Given the description of an element on the screen output the (x, y) to click on. 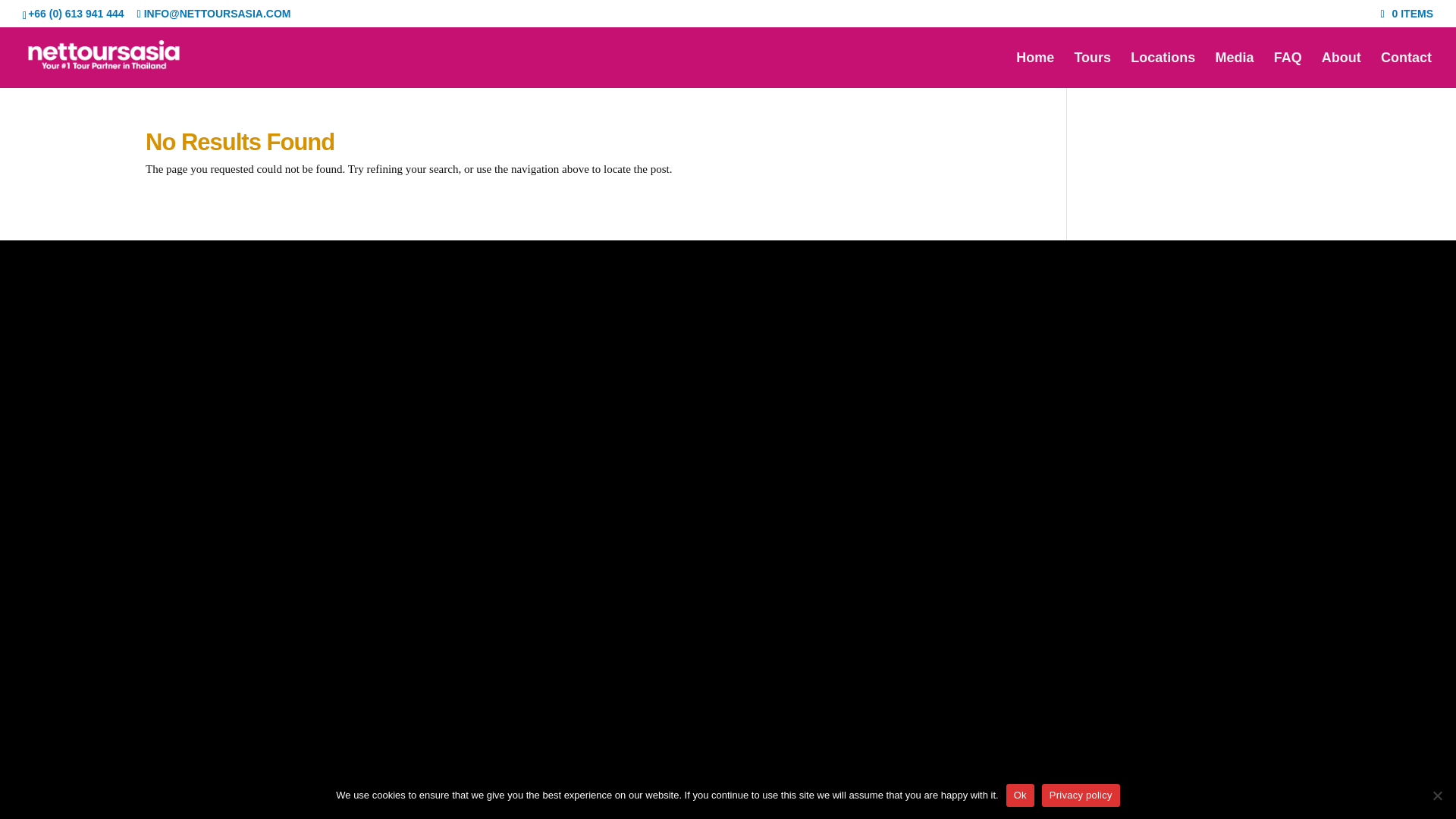
0 ITEMS (1406, 13)
Locations (1163, 69)
Media (1233, 69)
About (1341, 69)
Tours (1092, 69)
Home (1035, 69)
Contact (1405, 69)
